Given the description of an element on the screen output the (x, y) to click on. 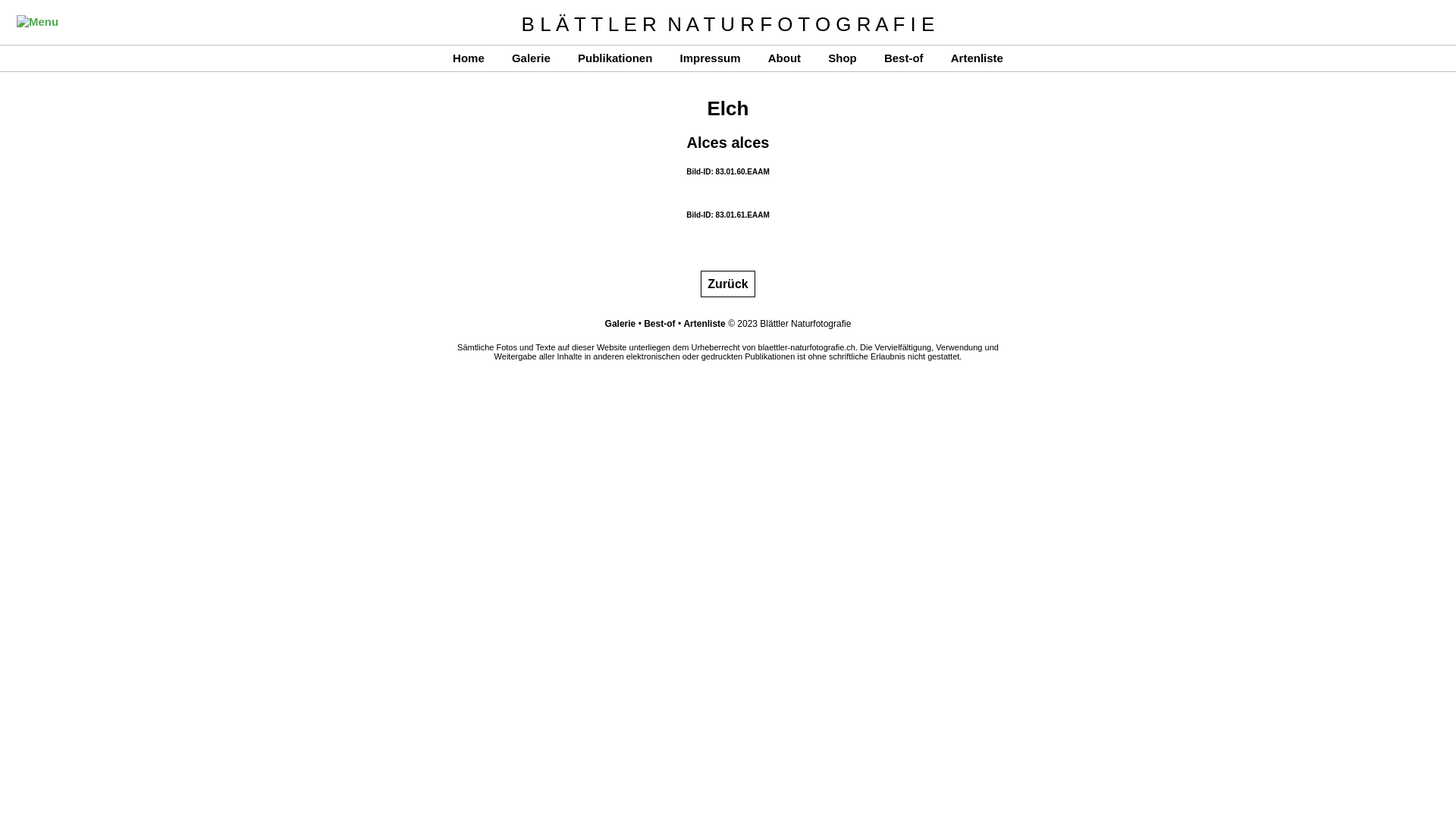
Bild-ID: 83.01.61.EAAM Element type: text (727, 214)
Shop Element type: text (842, 57)
Best-of Element type: text (903, 57)
About Element type: text (784, 57)
Galerie Element type: text (620, 323)
Publikationen Element type: text (614, 57)
Artenliste Element type: text (976, 57)
Home Element type: text (468, 57)
Best-of Element type: text (658, 323)
Galerie Element type: text (530, 57)
Artenliste Element type: text (703, 323)
Impressum Element type: text (709, 57)
Bild-ID: 83.01.60.EAAM Element type: text (727, 171)
